Given the description of an element on the screen output the (x, y) to click on. 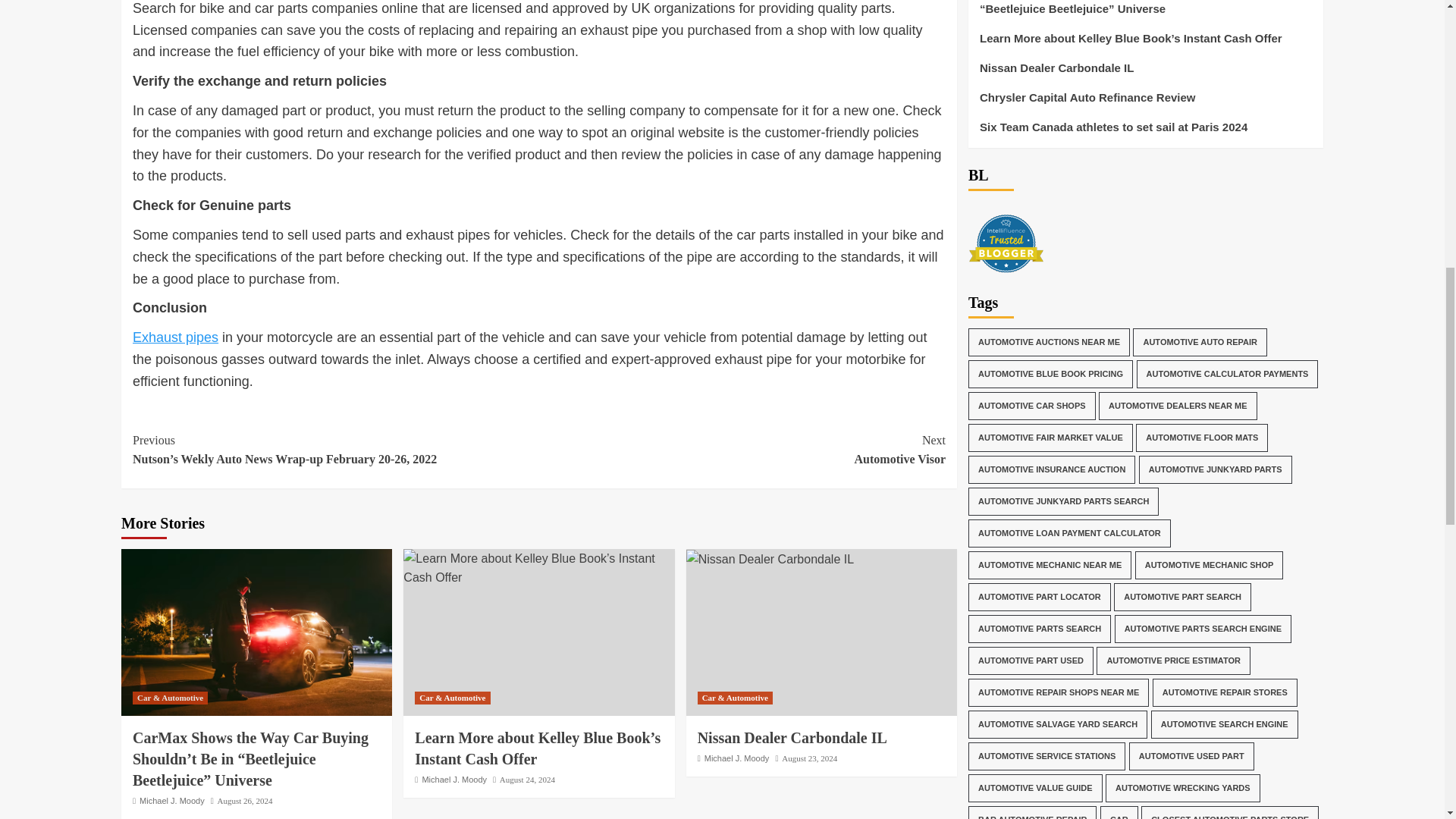
Michael J. Moody (741, 449)
August 24, 2024 (454, 778)
Michael J. Moody (526, 778)
Nissan Dealer Carbondale IL (172, 800)
August 26, 2024 (769, 559)
Exhaust pipes (244, 800)
